Given the description of an element on the screen output the (x, y) to click on. 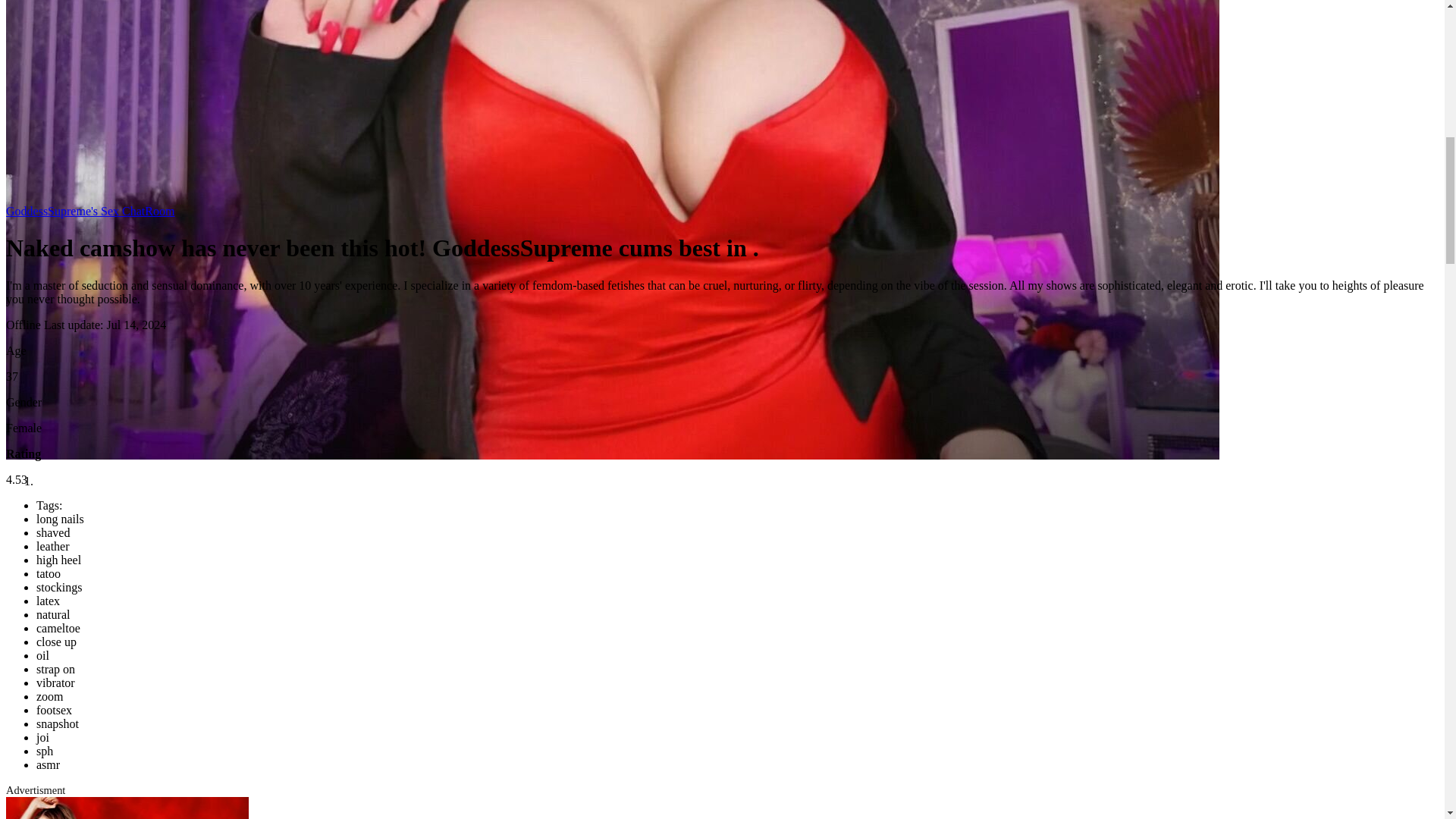
GoddessSupreme's Sex ChatRoom (89, 210)
GoddessSupreme's Sex ChatRoom (89, 210)
